Given the description of an element on the screen output the (x, y) to click on. 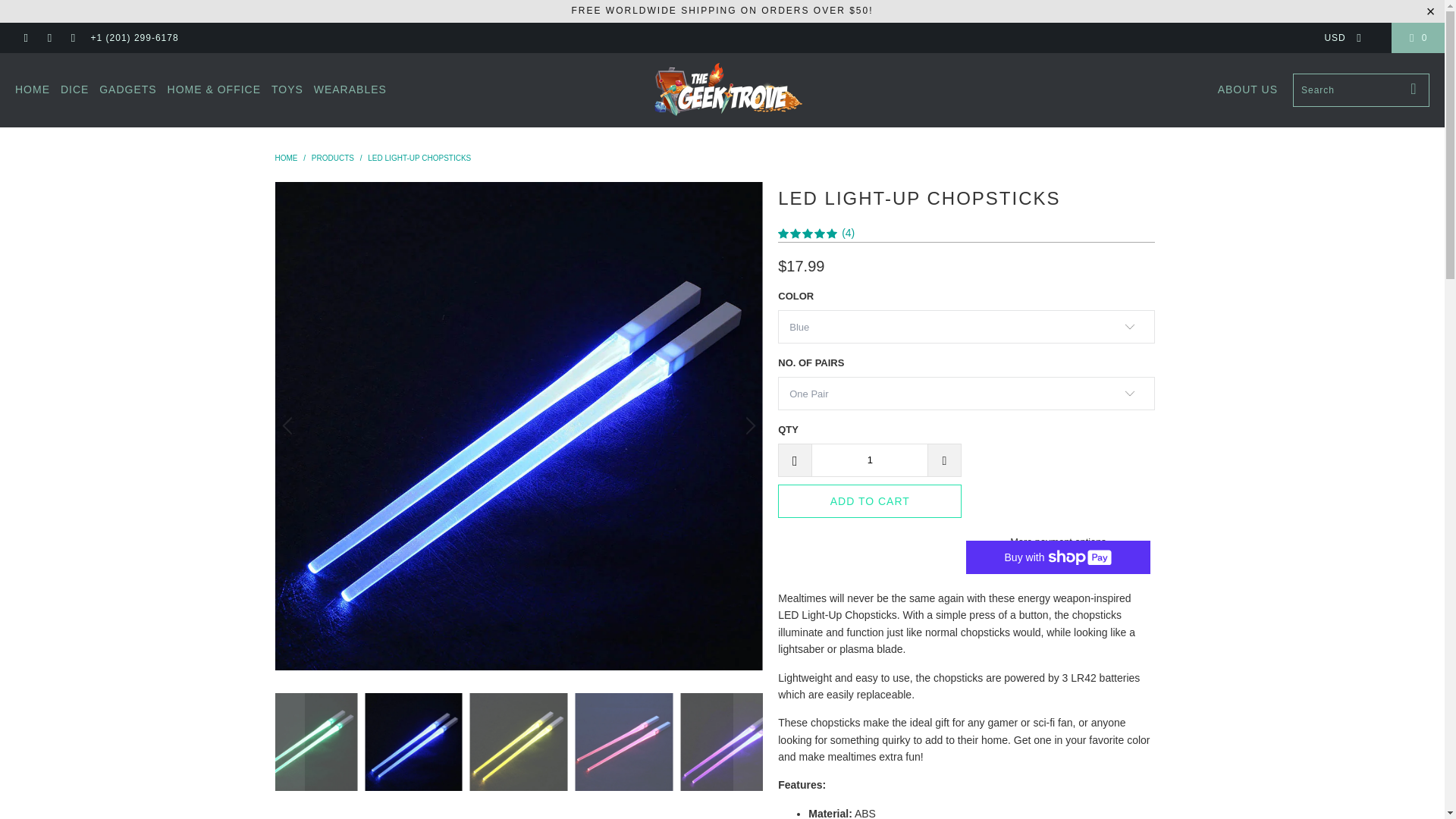
Email The Geek Trove (71, 37)
Products (332, 157)
1 (869, 459)
The Geek Trove (727, 89)
The Geek Trove on Facebook (25, 37)
The Geek Trove on Instagram (48, 37)
USD (1338, 37)
The Geek Trove (286, 157)
